Given the description of an element on the screen output the (x, y) to click on. 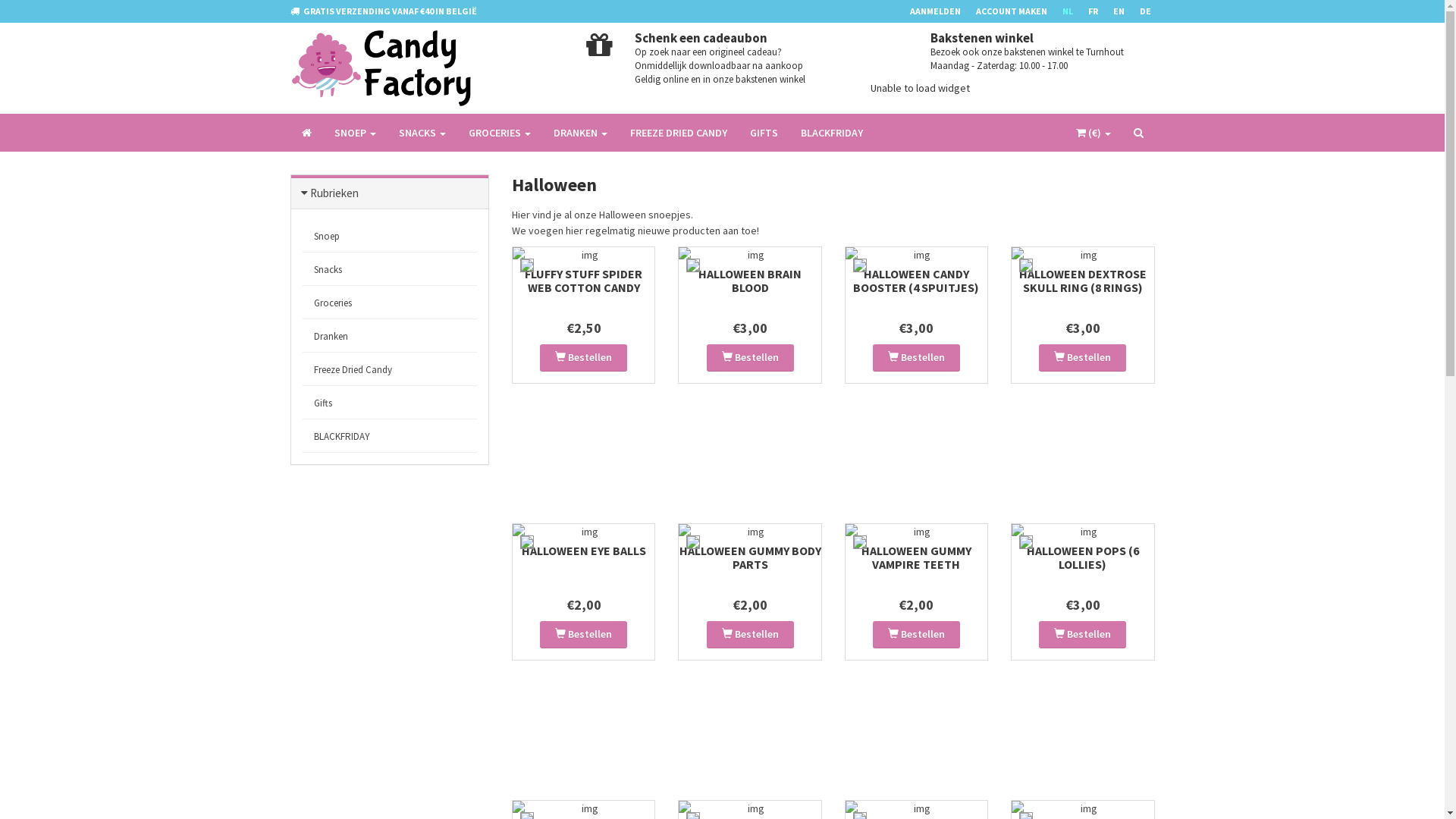
Dranken Element type: text (388, 335)
Snoep Element type: text (388, 235)
HALLOWEEN POPS (6 LOLLIES) Element type: text (1082, 556)
HALLOWEEN DEXTROSE SKULL RING (8 RINGS) Element type: text (1082, 280)
Bestellen Element type: text (1082, 634)
AANMELDEN Element type: text (942, 11)
FR Element type: text (1099, 11)
NL Element type: text (1074, 11)
GROCERIES Element type: text (498, 132)
GIFTS Element type: text (763, 132)
BLACKFRIDAY Element type: text (388, 435)
Bestellen Element type: text (583, 634)
HALLOWEEN GUMMY BODY PARTS Element type: text (750, 556)
HALLOWEEN GUMMY VAMPIRE TEETH Element type: text (916, 556)
HALLOWEEN EYE BALLS Element type: text (583, 550)
EN Element type: text (1126, 11)
FREEZE DRIED CANDY Element type: text (678, 132)
ACCOUNT MAKEN Element type: text (1018, 11)
Bestellen Element type: text (916, 357)
FLUFFY STUFF SPIDER WEB COTTON CANDY Element type: text (583, 280)
HALLOWEEN CANDY BOOSTER (4 SPUITJES) Element type: text (916, 280)
Bestellen Element type: text (749, 357)
Bestellen Element type: text (1082, 357)
BLACKFRIDAY Element type: text (830, 132)
Bestellen Element type: text (583, 357)
Groceries Element type: text (388, 302)
Rubrieken Element type: text (333, 192)
DE Element type: text (1152, 11)
Bestellen Element type: text (916, 634)
Snacks Element type: text (388, 269)
Gifts Element type: text (388, 402)
SNACKS Element type: text (421, 132)
Bestellen Element type: text (749, 634)
HALLOWEEN BRAIN BLOOD Element type: text (749, 280)
Freeze Dried Candy Element type: text (388, 369)
DRANKEN Element type: text (579, 132)
SNOEP Element type: text (355, 132)
